Given the description of an element on the screen output the (x, y) to click on. 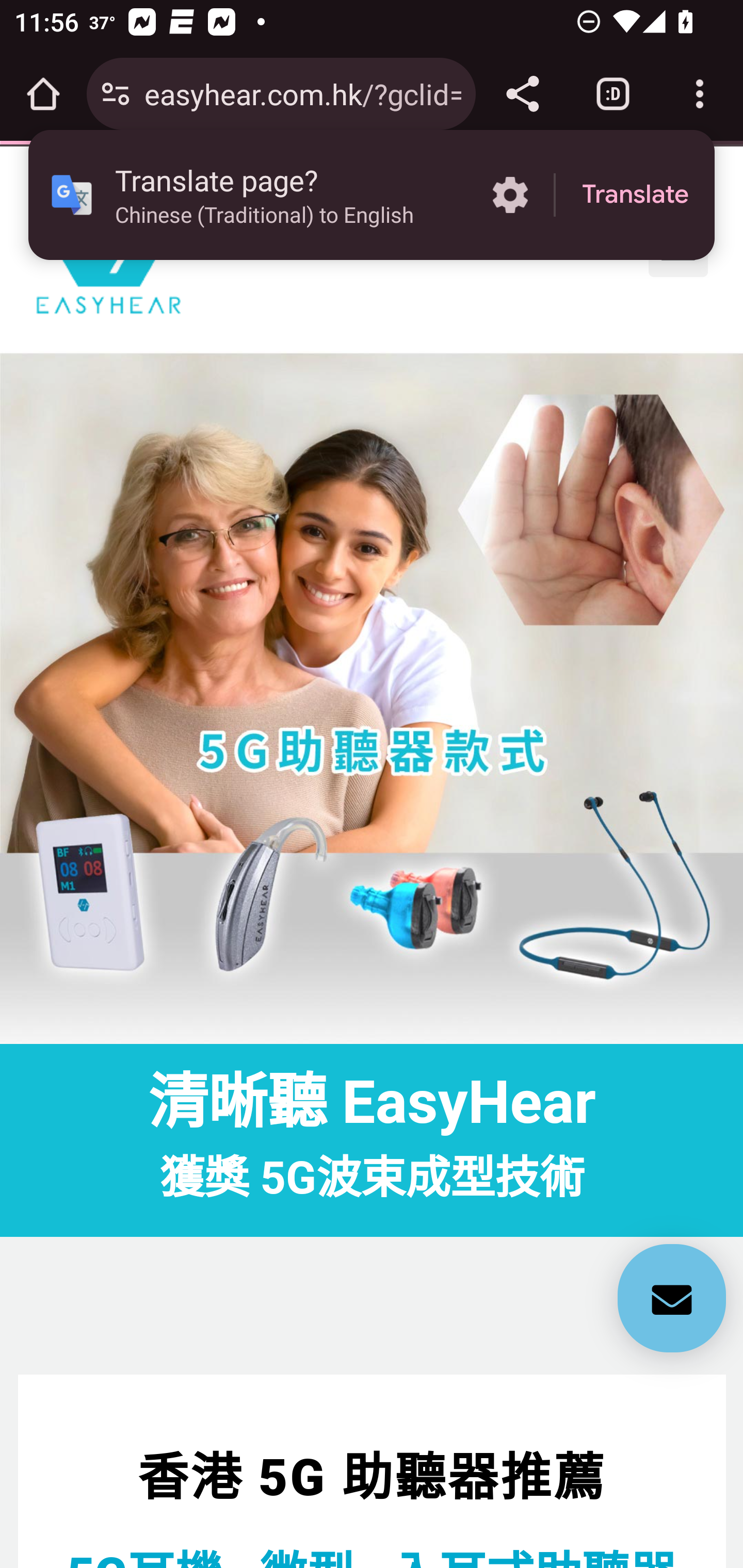
Open the home page (43, 93)
Connection is secure (115, 93)
Share (522, 93)
Switch or close tabs (612, 93)
Customize and control Google Chrome (699, 93)
Translate (634, 195)
More options in the Translate page? (509, 195)
